Given the description of an element on the screen output the (x, y) to click on. 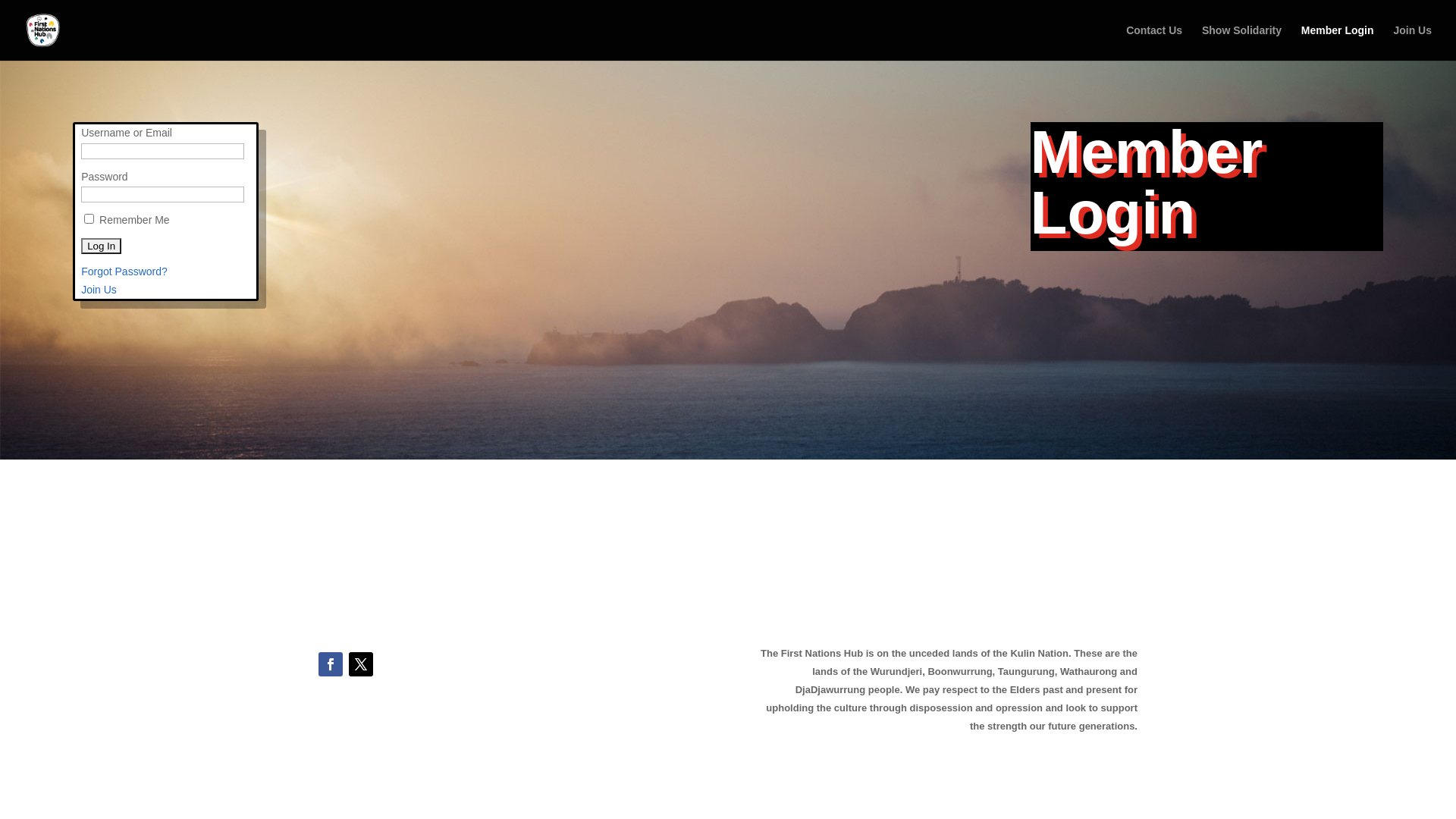
Facebook Element type: text (330, 664)
Join Us Element type: text (1412, 42)
Forgot Password? Element type: text (124, 271)
Contact Us Element type: text (1154, 42)
Show Solidarity Element type: text (1241, 42)
Twitter Element type: text (360, 664)
Join Us Element type: text (98, 289)
Log In Element type: text (101, 246)
Member Login Element type: text (1337, 42)
Skip to content Element type: text (0, 0)
